Given the description of an element on the screen output the (x, y) to click on. 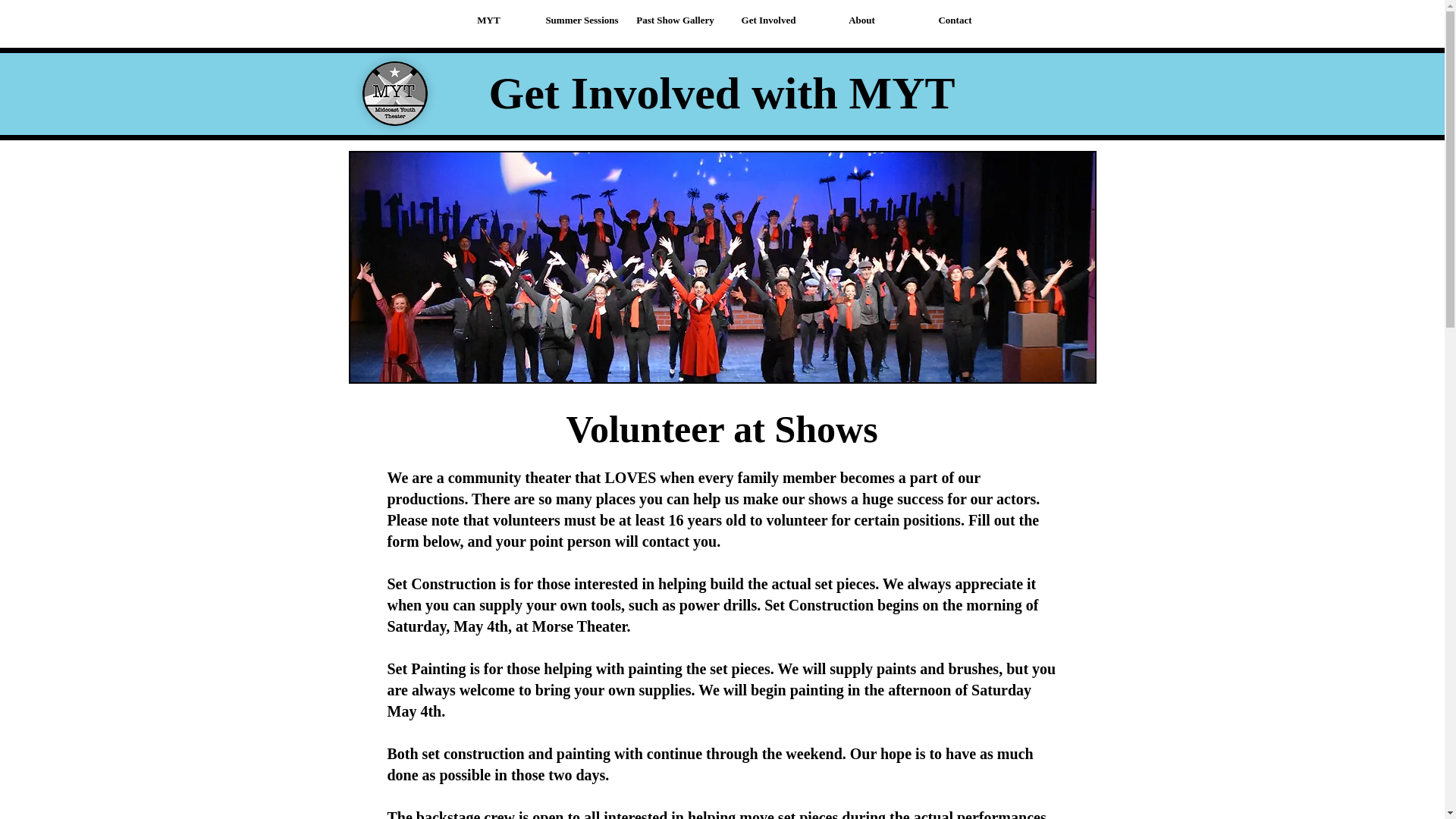
Contact (954, 19)
Past Show Gallery (675, 19)
Get Involved (768, 19)
About (861, 19)
Summer Sessions (581, 19)
MYT (488, 19)
